Given the description of an element on the screen output the (x, y) to click on. 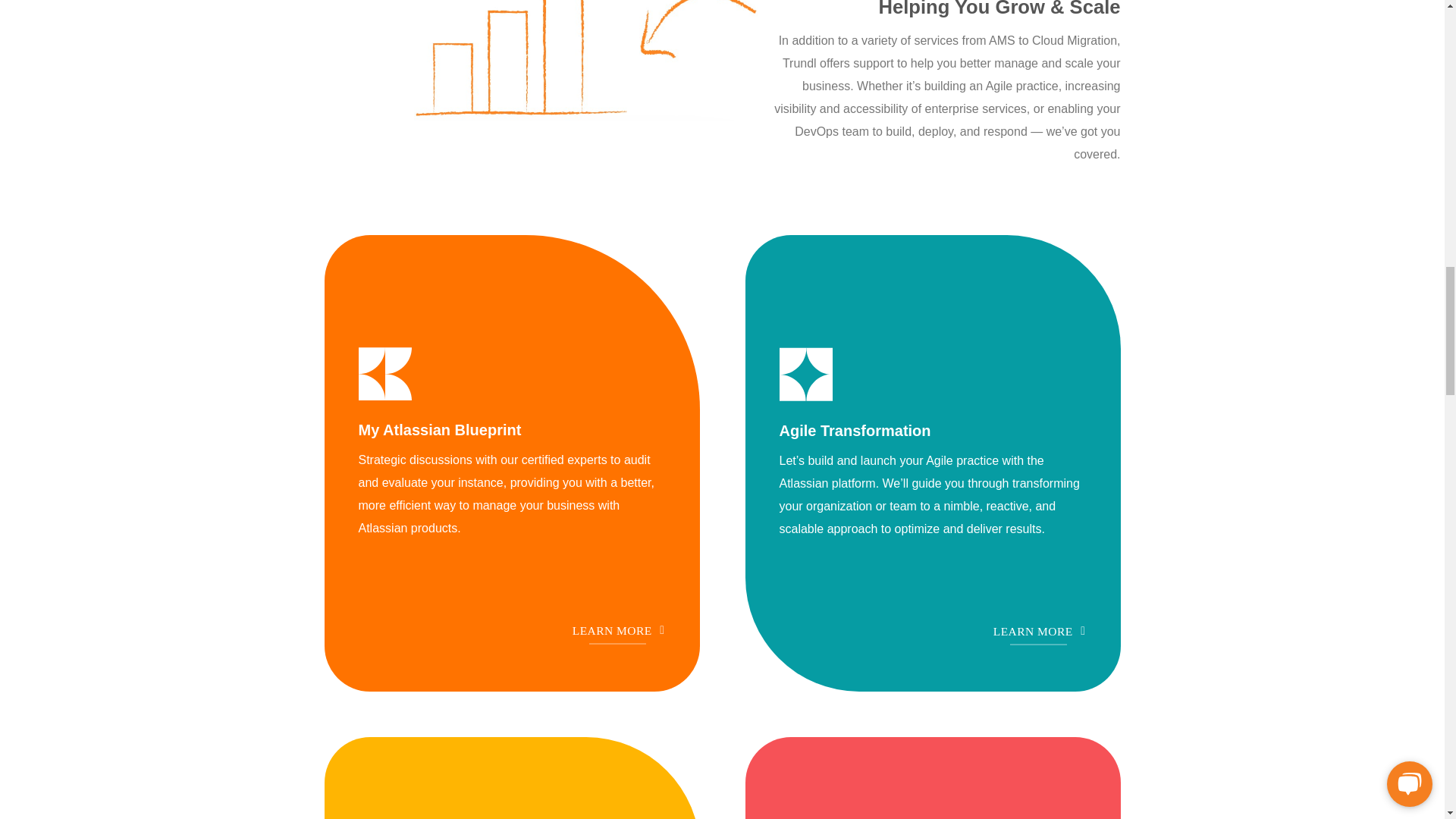
LEARN MORE (1038, 631)
LEARN MORE (617, 630)
